Given the description of an element on the screen output the (x, y) to click on. 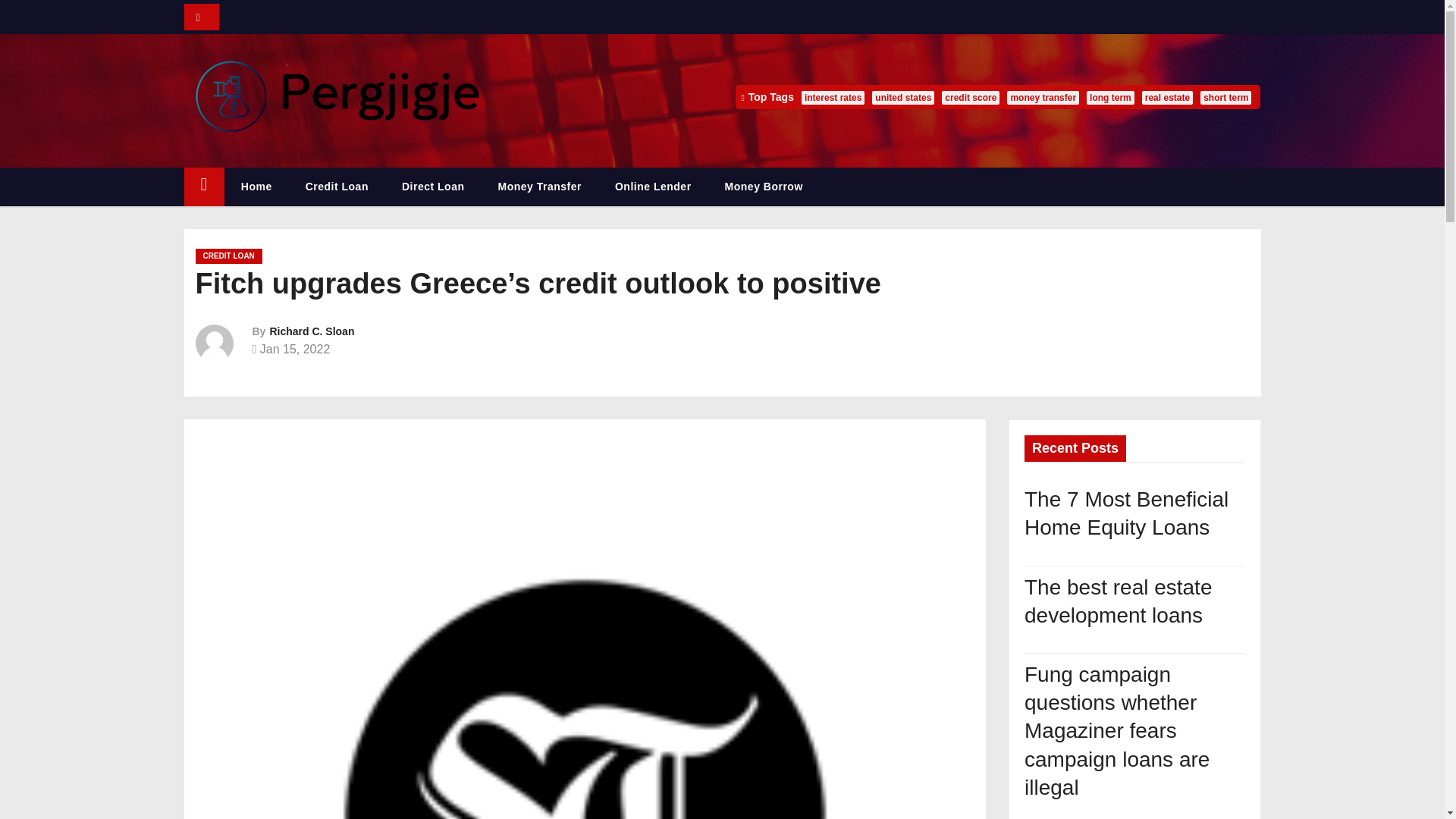
Richard C. Sloan (311, 331)
long term (1110, 97)
Credit Loan (336, 186)
CREDIT LOAN (228, 255)
Credit loan (336, 186)
credit score (970, 97)
Online lender (652, 186)
Direct Loan (433, 186)
Online Lender (652, 186)
united states (903, 97)
Home (256, 186)
Money Transfer (538, 186)
Home (256, 186)
Money transfer (538, 186)
money transfer (1042, 97)
